Given the description of an element on the screen output the (x, y) to click on. 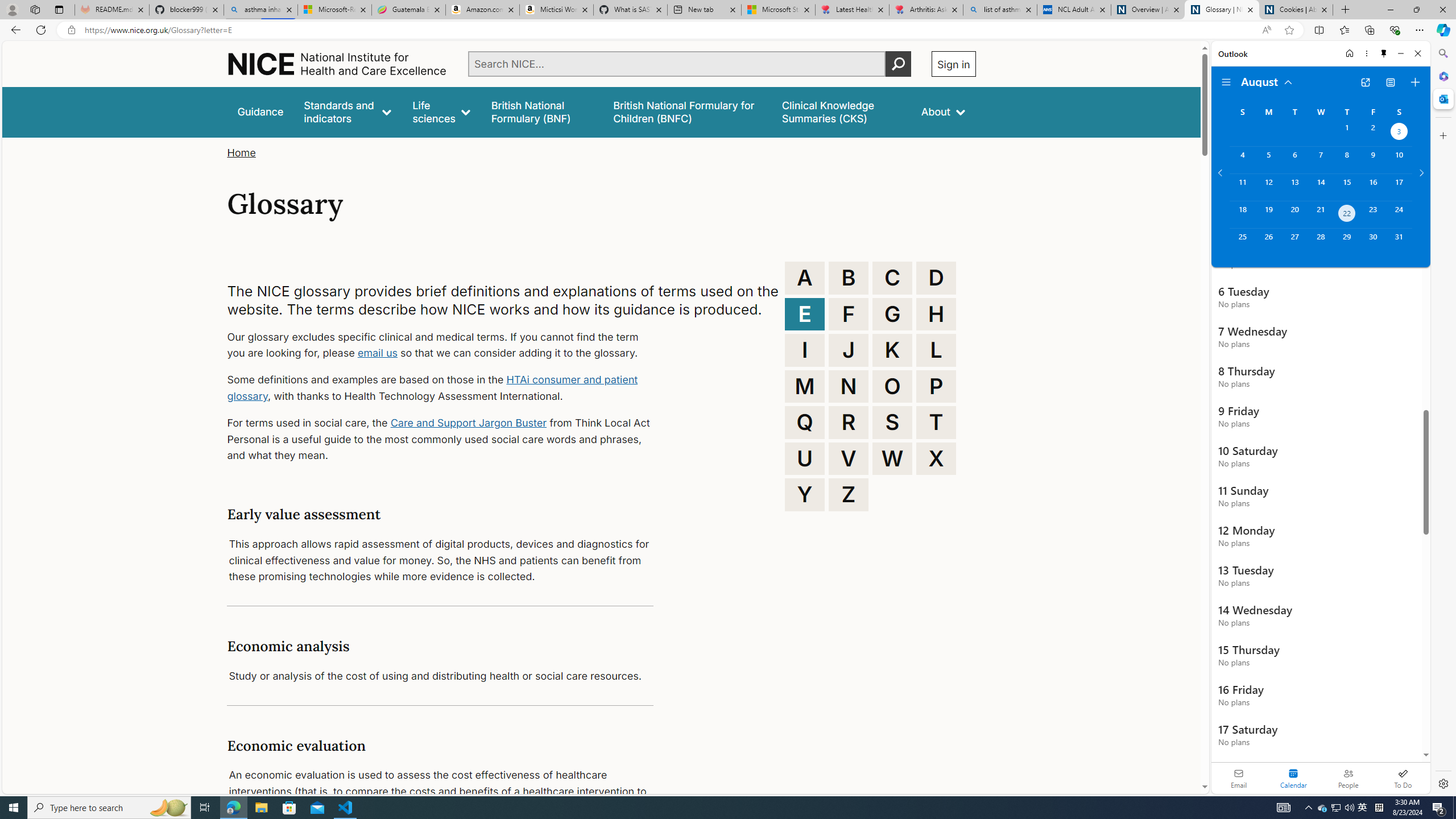
Home (1348, 53)
list of asthma inhalers uk - Search (1000, 9)
N (848, 385)
Settings and more (Alt+F) (1419, 29)
L (935, 350)
Thursday, August 29, 2024.  (1346, 241)
Address and search bar (669, 29)
W (892, 458)
Friday, August 23, 2024.  (1372, 214)
Open in new tab (1365, 82)
Friday, August 9, 2024.  (1372, 159)
Tuesday, August 6, 2024.  (1294, 159)
Y (804, 494)
